Given the description of an element on the screen output the (x, y) to click on. 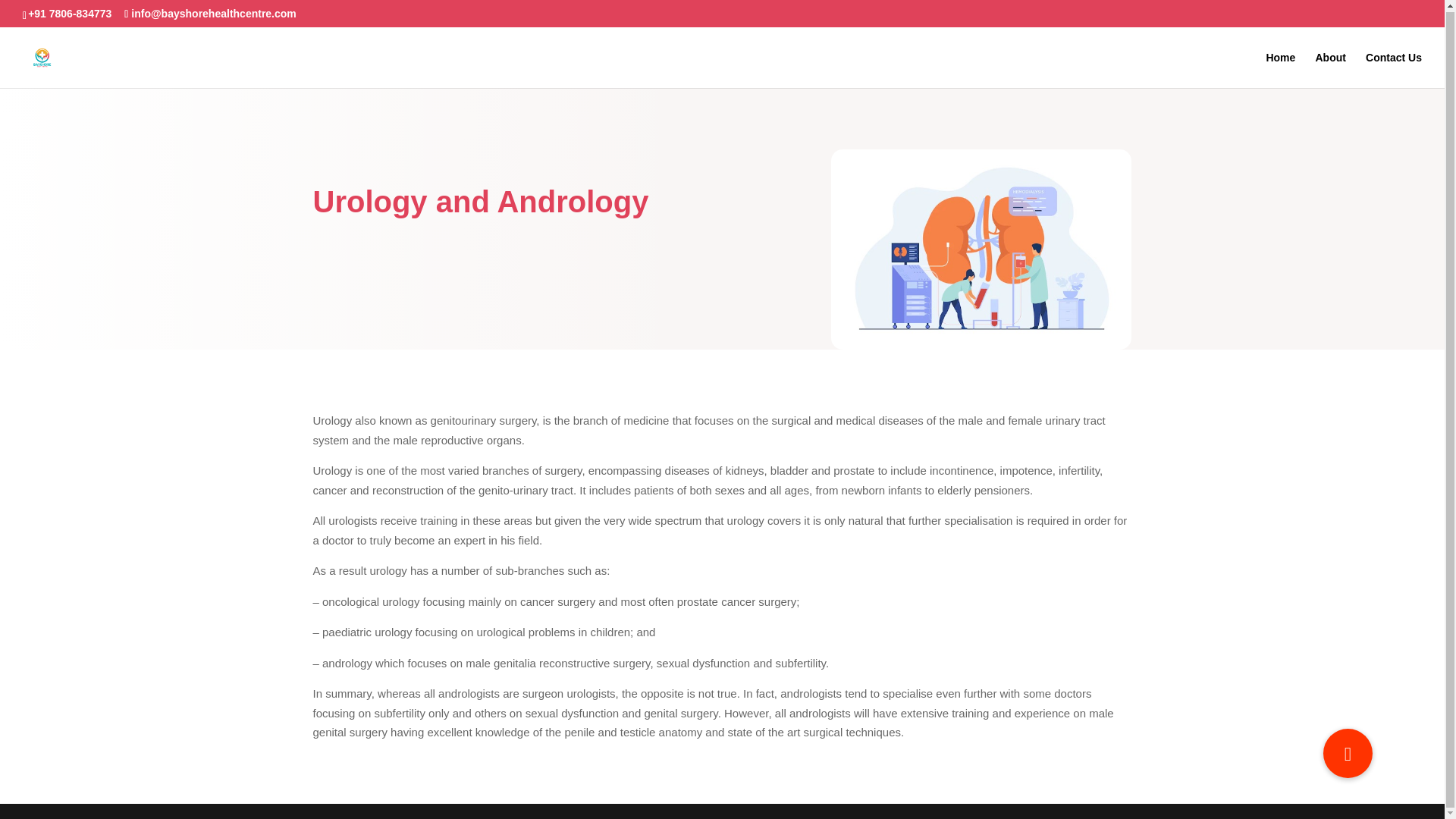
Urology and Andrology icon (981, 249)
Contact Us (1393, 68)
